Given the description of an element on the screen output the (x, y) to click on. 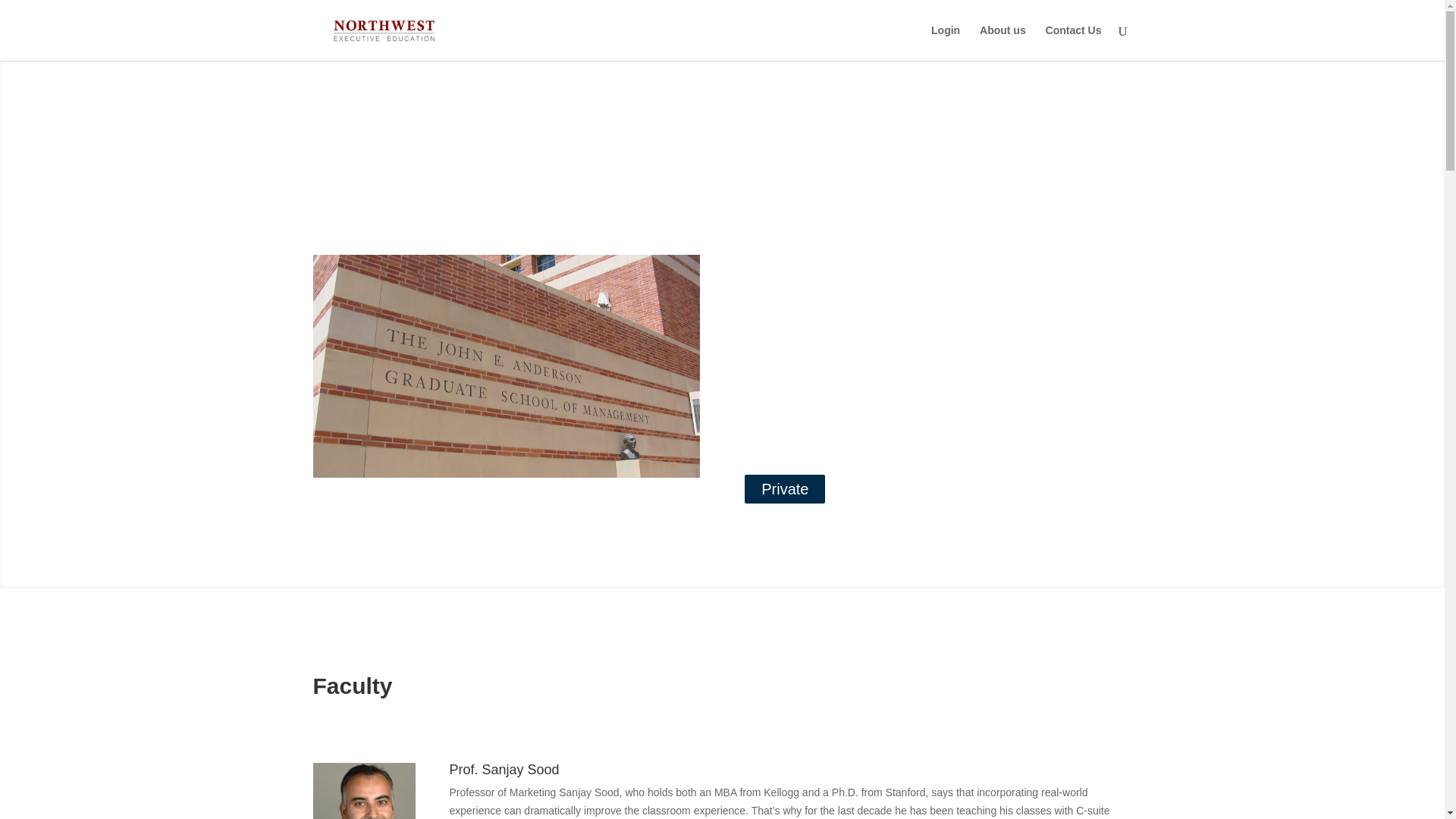
Private (784, 489)
Contact Us (1073, 42)
About us (1002, 42)
